Given the description of an element on the screen output the (x, y) to click on. 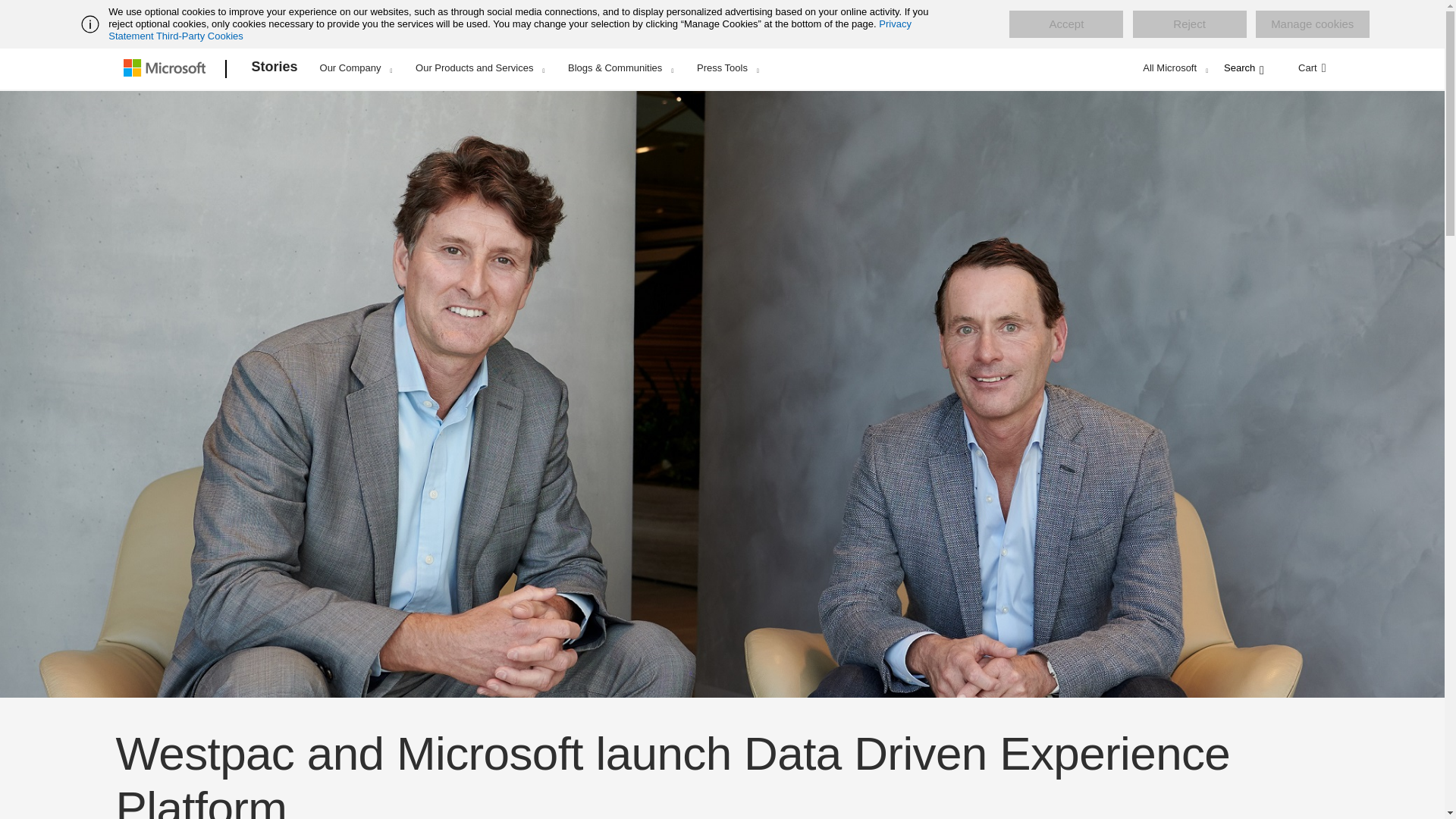
Third-Party Cookies (199, 35)
Microsoft (167, 69)
Stories (274, 69)
Accept (1065, 23)
Manage cookies (1312, 23)
Our Company (355, 67)
Reject (1189, 23)
Our Products and Services (479, 67)
Privacy Statement (509, 29)
